Given the description of an element on the screen output the (x, y) to click on. 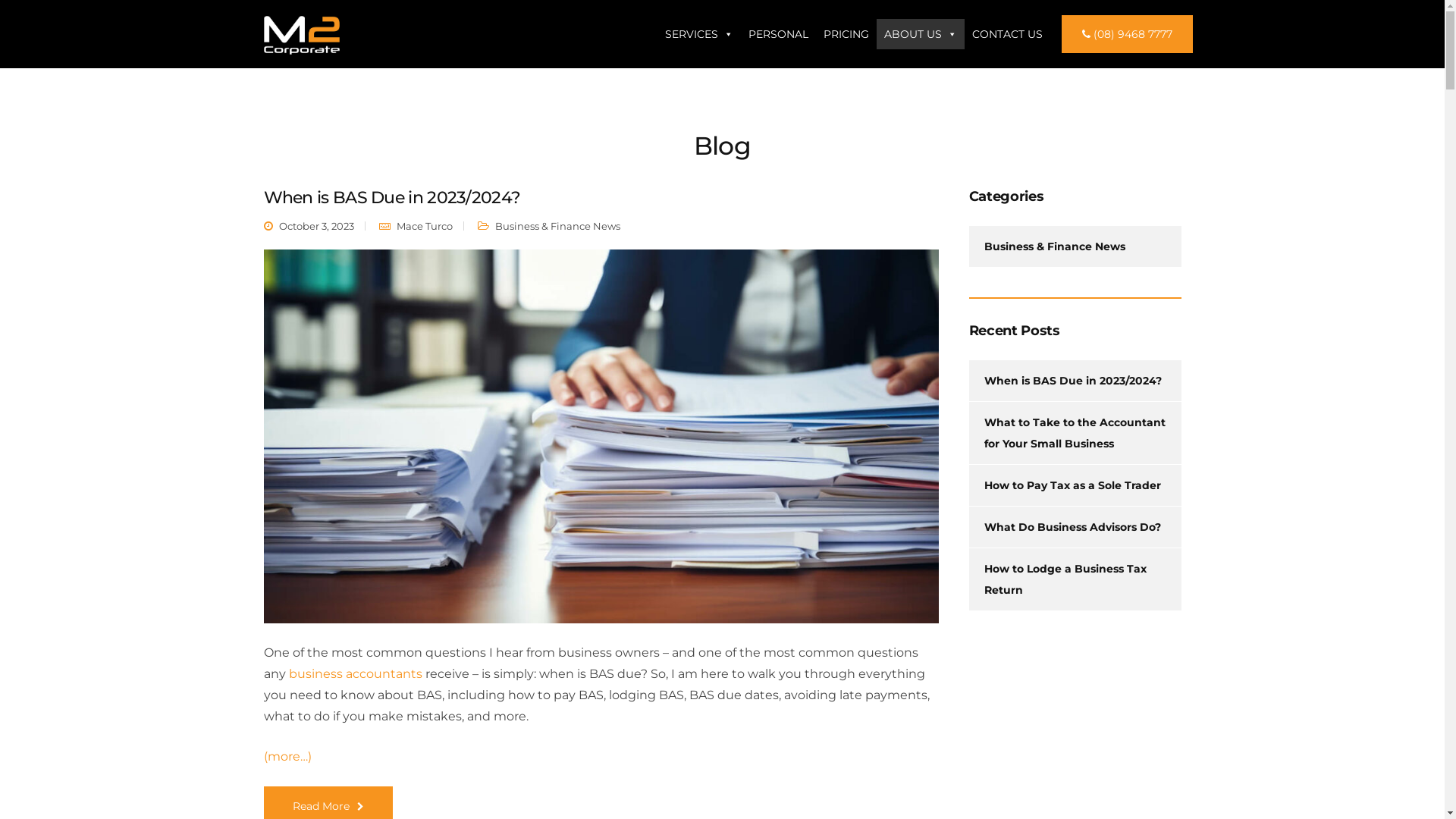
SERVICES Element type: text (698, 33)
PERSONAL Element type: text (777, 33)
Business & Finance News Element type: text (556, 225)
Business & Finance News Element type: text (1054, 246)
business accountants Element type: text (354, 673)
CONTACT US Element type: text (1007, 33)
When is BAS Due in 2023/2024? Element type: text (391, 197)
October 3, 2023 Element type: text (316, 225)
ABOUT US Element type: text (920, 33)
How to Pay Tax as a Sole Trader Element type: text (1072, 485)
When is BAS Due in 2023/2024? Element type: text (1072, 380)
How to Lodge a Business Tax Return Element type: text (1065, 578)
What Do Business Advisors Do? Element type: text (1072, 526)
When is BAS Due in 2023/2024? Element type: hover (600, 444)
PRICING Element type: text (845, 33)
(08) 9468 7777 Element type: text (1126, 34)
Mace Turco Element type: text (423, 225)
What to Take to the Accountant for Your Small Business  Element type: text (1074, 432)
